Given the description of an element on the screen output the (x, y) to click on. 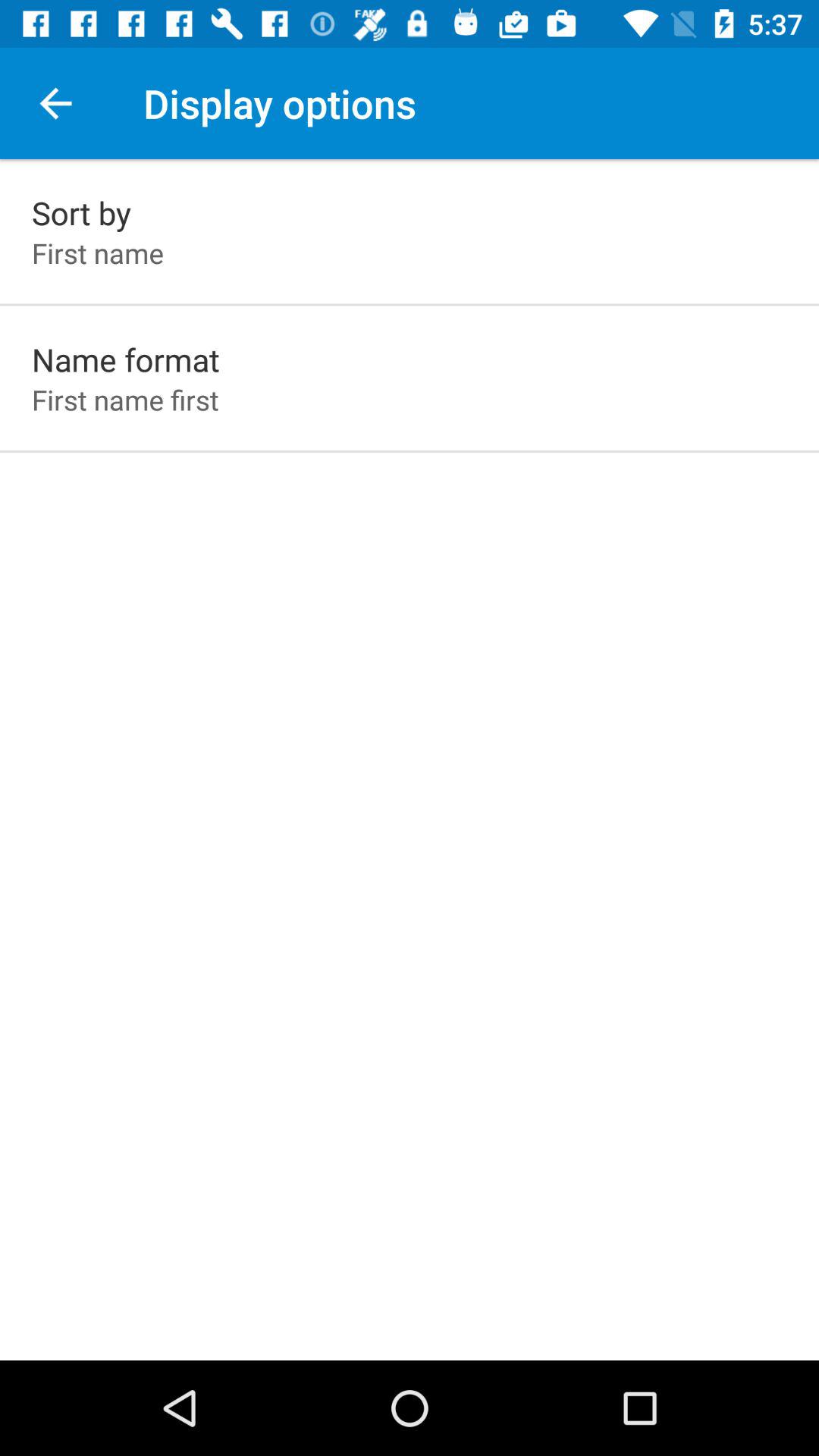
tap name format app (125, 359)
